Given the description of an element on the screen output the (x, y) to click on. 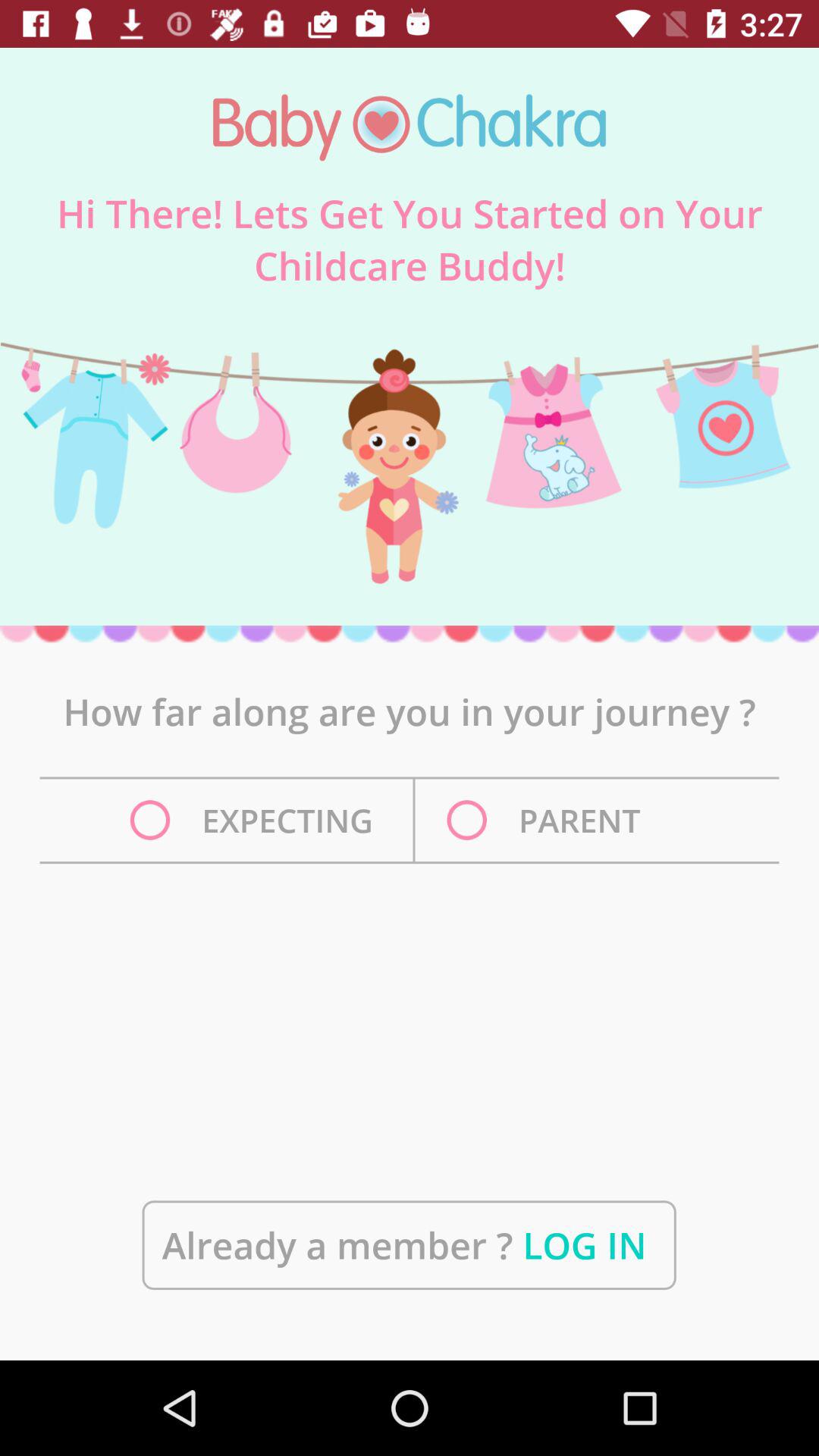
choose the expecting (255, 820)
